Given the description of an element on the screen output the (x, y) to click on. 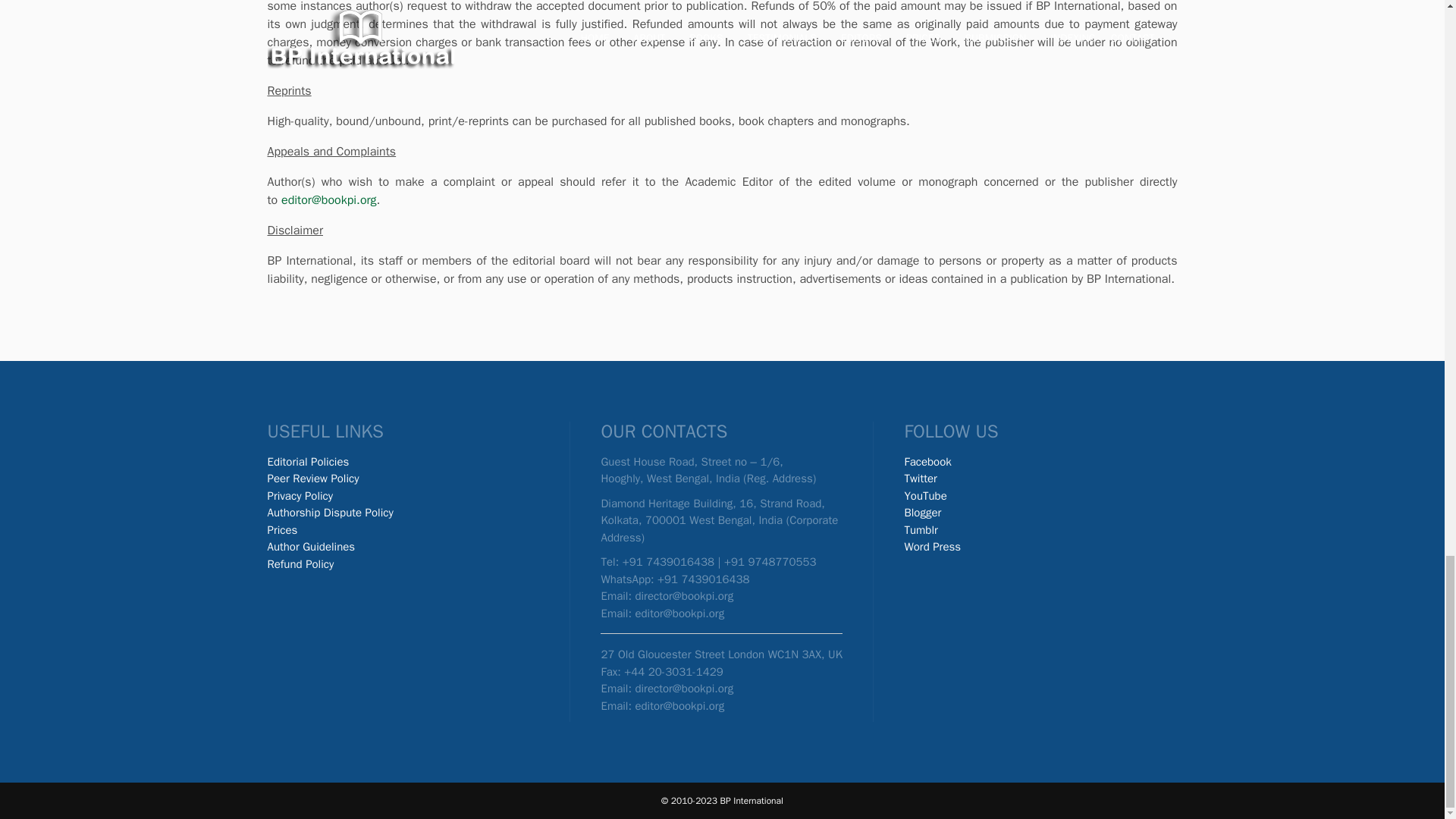
Facebook  (929, 461)
Editorial Policies (307, 461)
Word Press (932, 546)
Authorship Dispute Policy (329, 512)
Privacy Policy (299, 495)
Prices (281, 530)
Blogger (922, 512)
Peer Review Policy (312, 478)
Tumblr (920, 530)
Author Guidelines (310, 546)
Twitter (920, 478)
Refund Policy (299, 563)
YouTube (925, 495)
